Given the description of an element on the screen output the (x, y) to click on. 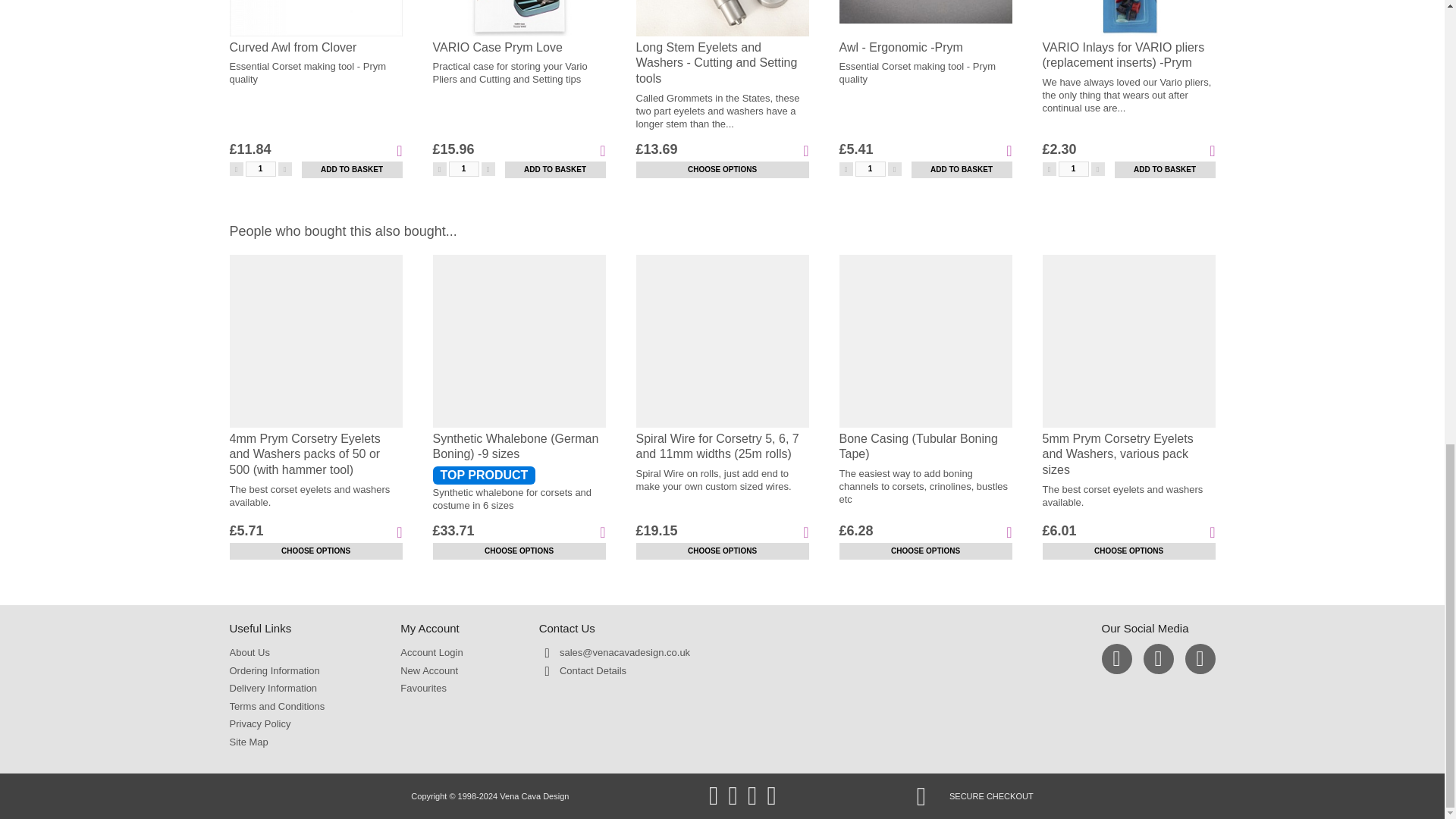
1 (261, 168)
1 (463, 168)
Add To Basket (352, 169)
Add To Basket (555, 169)
Choose Options (518, 550)
Add To Basket (1165, 169)
1 (870, 168)
Choose Options (1128, 550)
Choose Options (314, 550)
1 (1073, 168)
